Given the description of an element on the screen output the (x, y) to click on. 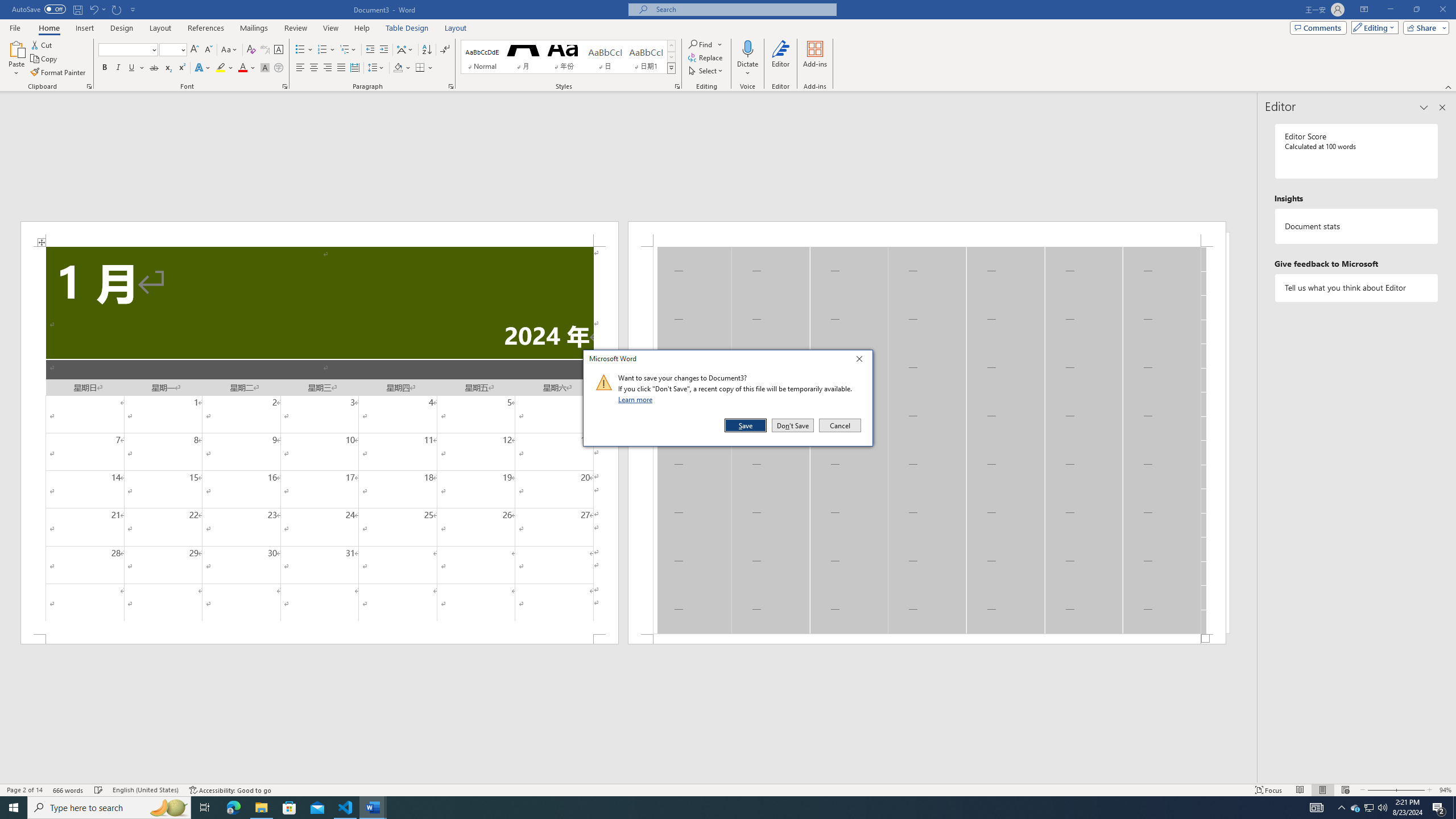
Font Color RGB(255, 0, 0) (241, 67)
Page Number Page 2 of 14 (24, 790)
